Given the description of an element on the screen output the (x, y) to click on. 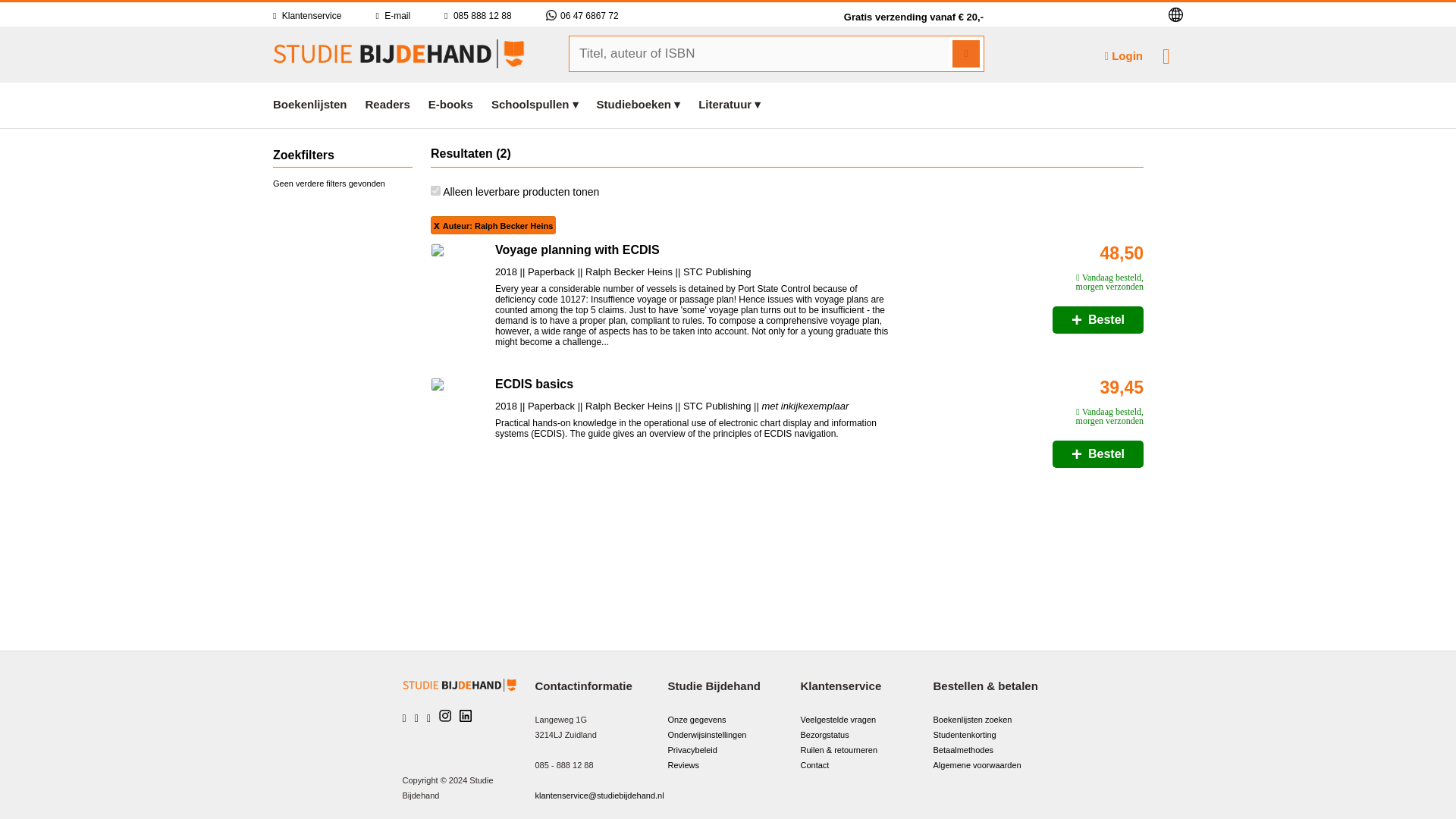
E-books (450, 103)
Studieboeken (639, 103)
Prijs inclusief BTW (1047, 392)
Boekenlijsten (314, 103)
on (435, 190)
Readers (387, 103)
Schoolspullen (534, 103)
Literatuur (729, 103)
Prijs inclusief BTW (1047, 257)
 06 47 6867 72 (582, 15)
